Given the description of an element on the screen output the (x, y) to click on. 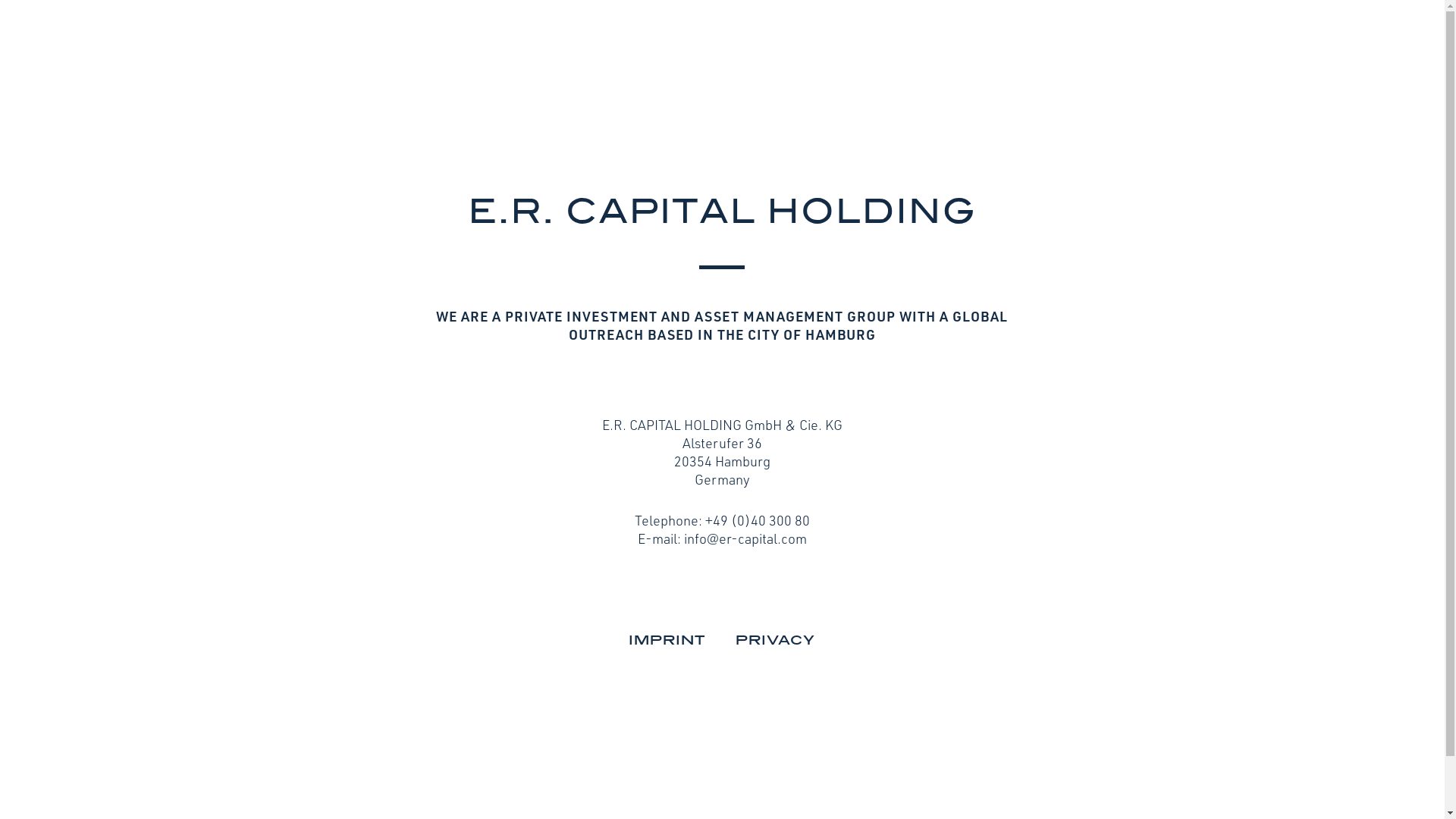
info@er-capital.com Element type: text (745, 538)
IMPRINT Element type: text (666, 640)
PRIVACY Element type: text (775, 640)
